Given the description of an element on the screen output the (x, y) to click on. 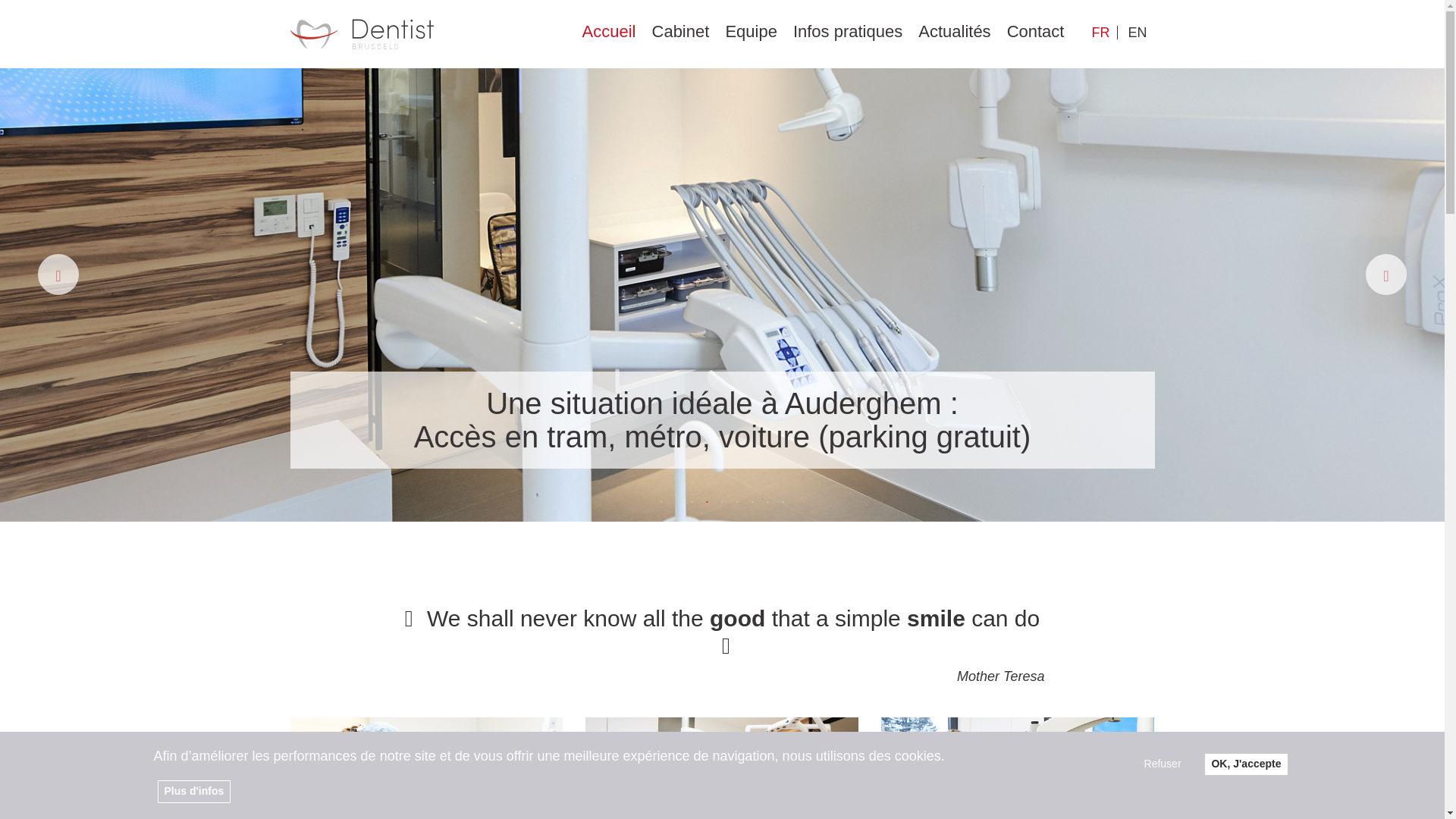
Accueil (609, 35)
5 (721, 502)
4 (706, 502)
9 (782, 502)
7 (752, 502)
Cabinet (681, 35)
Next (1385, 273)
Infos pratiques (847, 35)
Contact (1035, 35)
6 (736, 502)
Accueil (360, 33)
1 (660, 502)
2 (676, 502)
Equipe (751, 35)
